Given the description of an element on the screen output the (x, y) to click on. 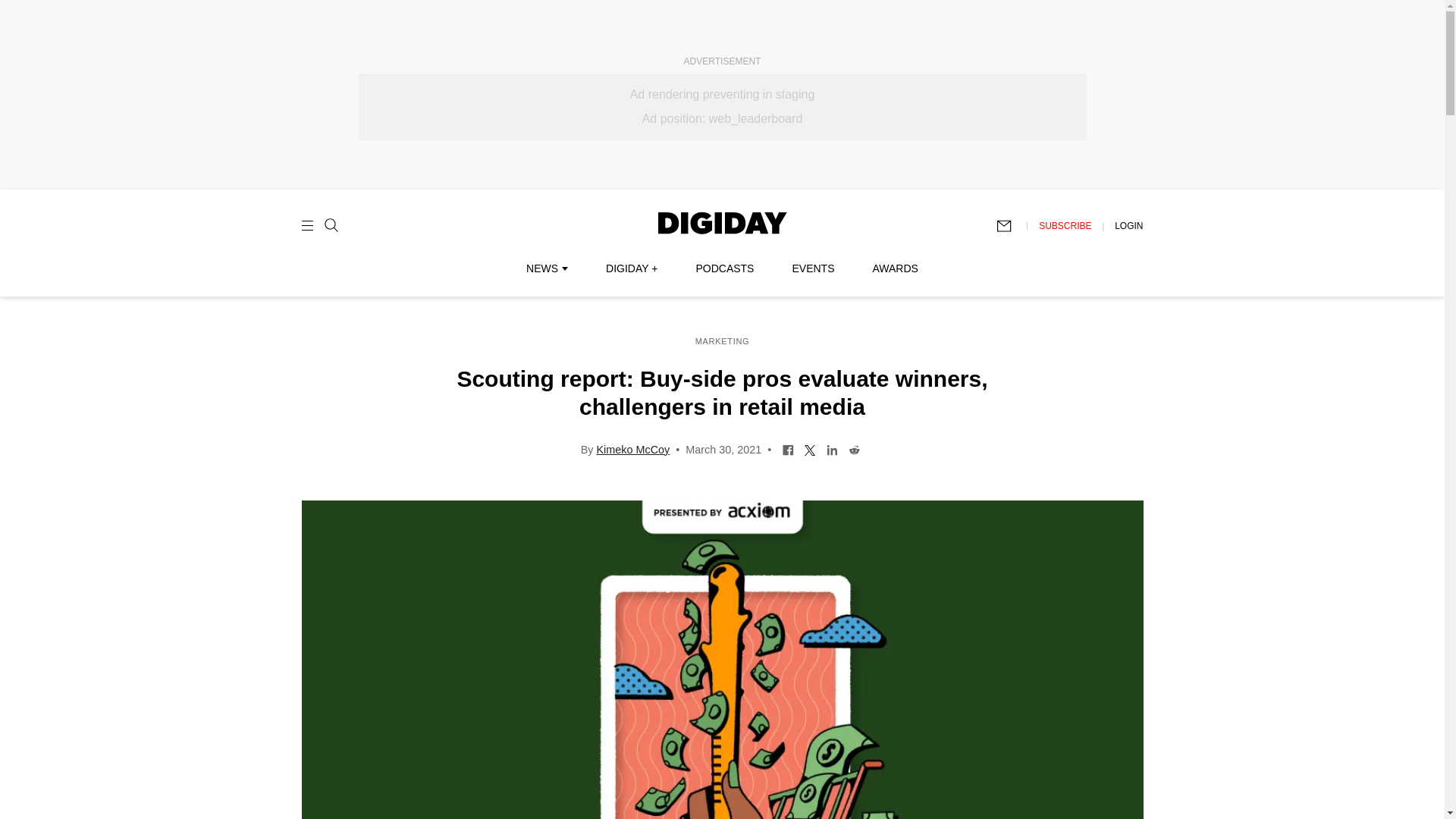
NEWS (546, 267)
AWARDS (894, 267)
Share on Twitter (809, 449)
Share on Facebook (787, 449)
EVENTS (813, 267)
SUBSCRIBE (1064, 225)
Share on Reddit (853, 449)
Share on LinkedIn (831, 449)
PODCASTS (725, 267)
LOGIN (1128, 225)
Subscribe (1010, 225)
